Given the description of an element on the screen output the (x, y) to click on. 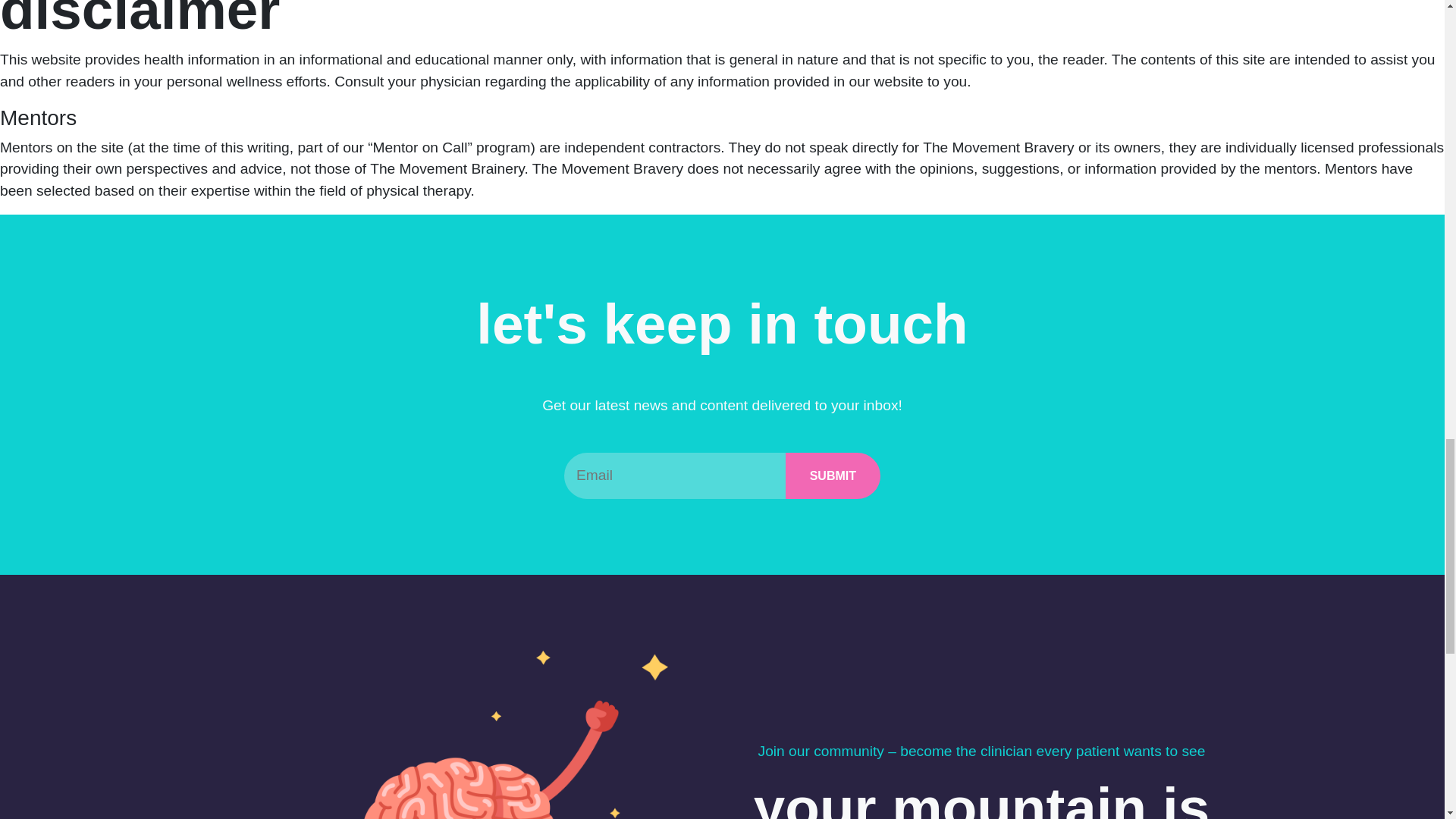
SUBMIT (833, 475)
